Given the description of an element on the screen output the (x, y) to click on. 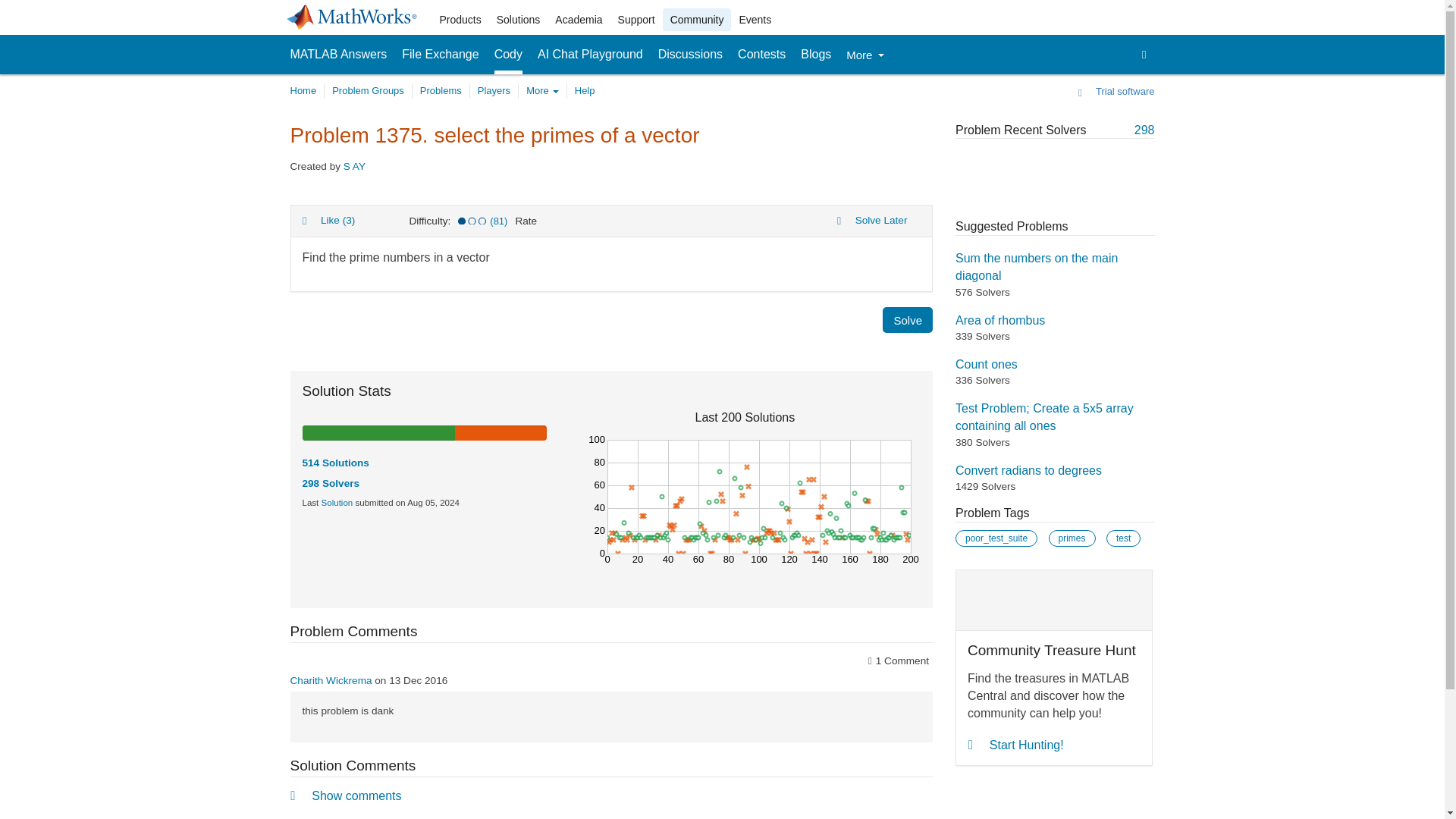
Click to view rating details. (472, 220)
Blogs (815, 54)
Events (754, 19)
Support (636, 19)
Score: 440, Badges: 3 (330, 680)
Discussions (690, 54)
Community (697, 19)
AI Chat Playground (590, 54)
MATLAB Answers (338, 54)
